Given the description of an element on the screen output the (x, y) to click on. 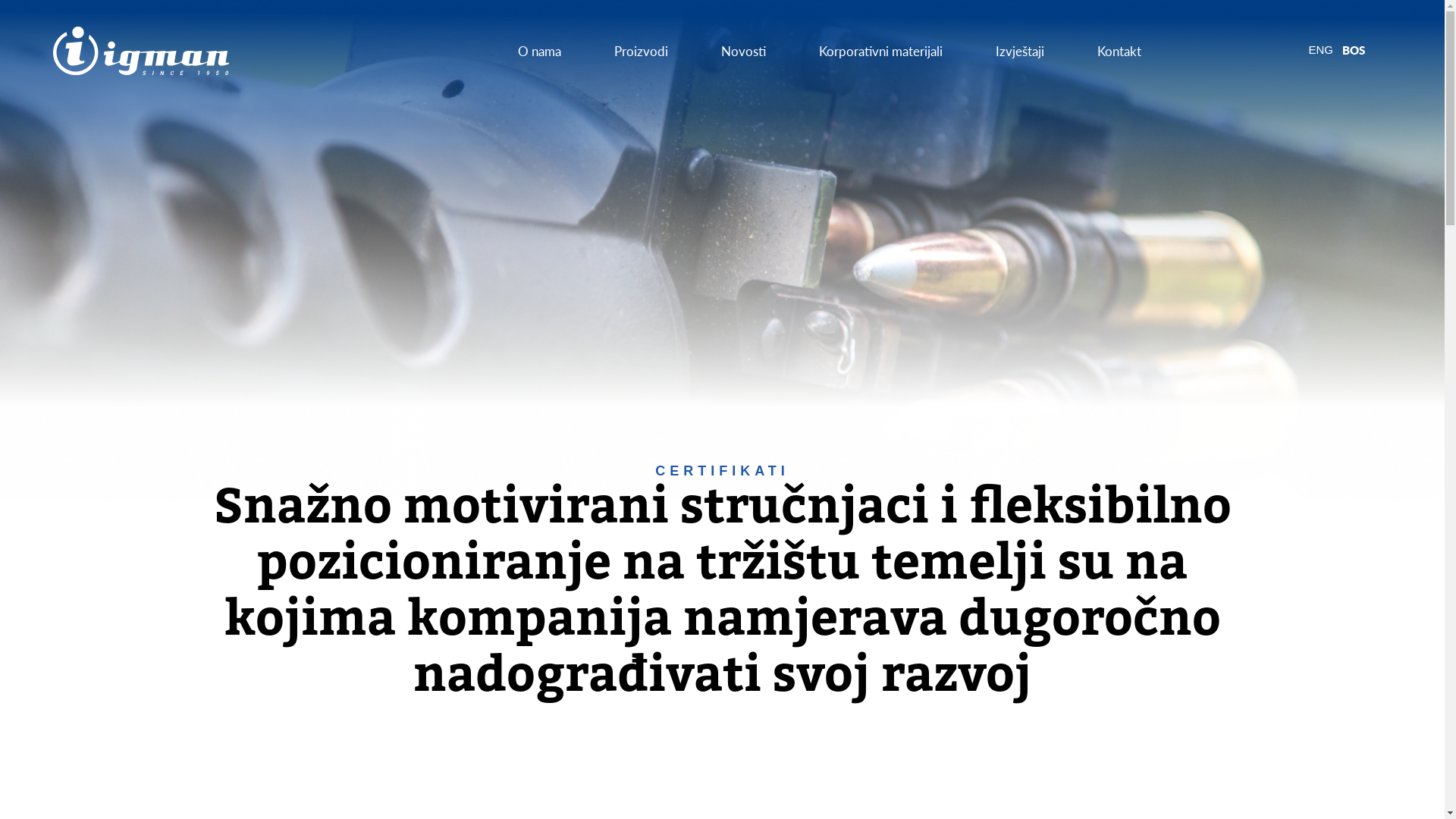
Korporativni materijali Element type: text (880, 50)
O nama Element type: text (539, 50)
ENG Element type: text (1320, 50)
BOS Element type: text (1353, 50)
Proizvodi Element type: text (641, 50)
Kontakt Element type: text (1119, 50)
Novosti Element type: text (743, 50)
